Given the description of an element on the screen output the (x, y) to click on. 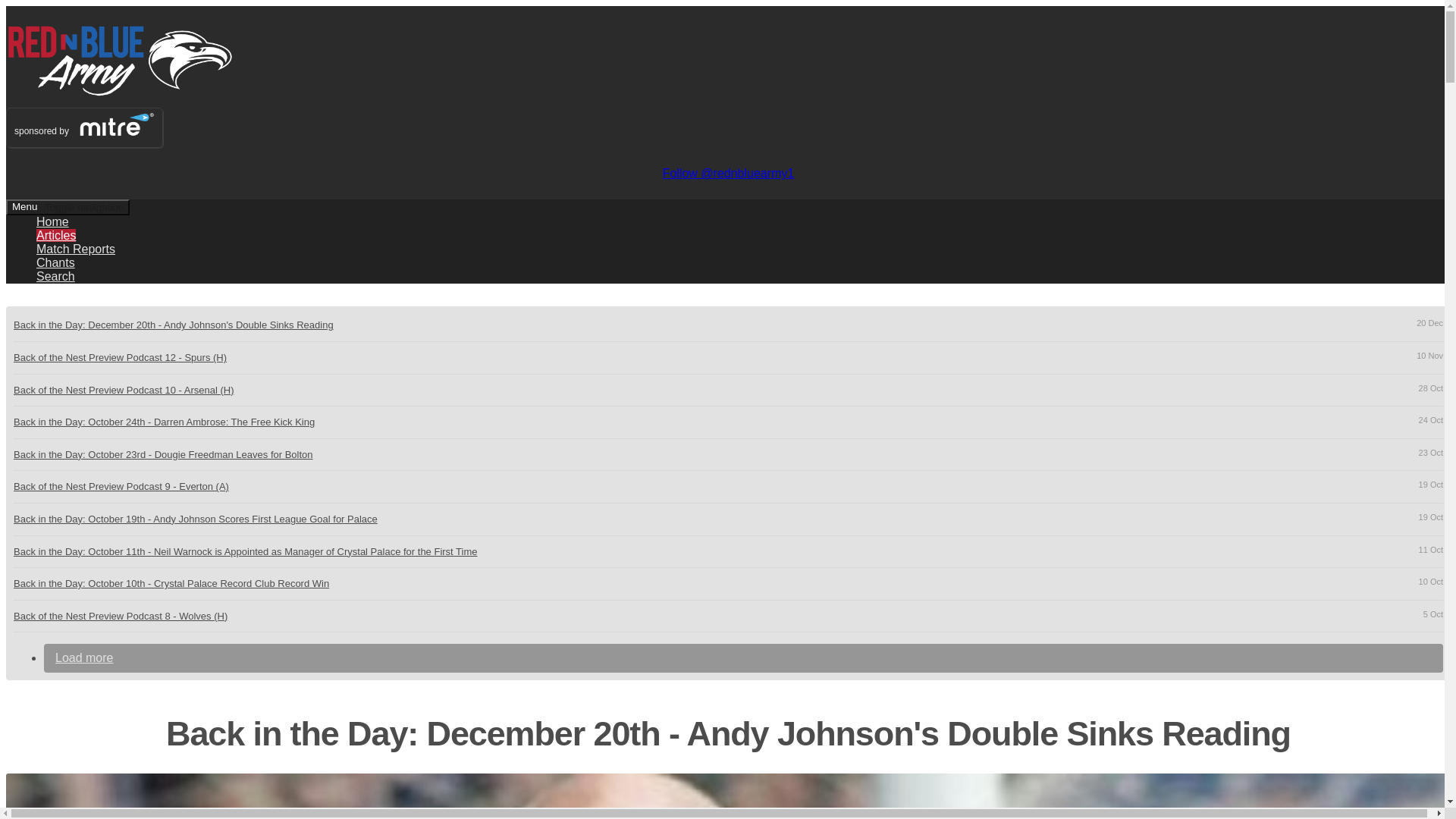
Match Reports (75, 248)
Articles (67, 207)
Home (55, 235)
Search (52, 221)
Load more (55, 276)
Chants (742, 657)
Skip to main content (55, 262)
